Given the description of an element on the screen output the (x, y) to click on. 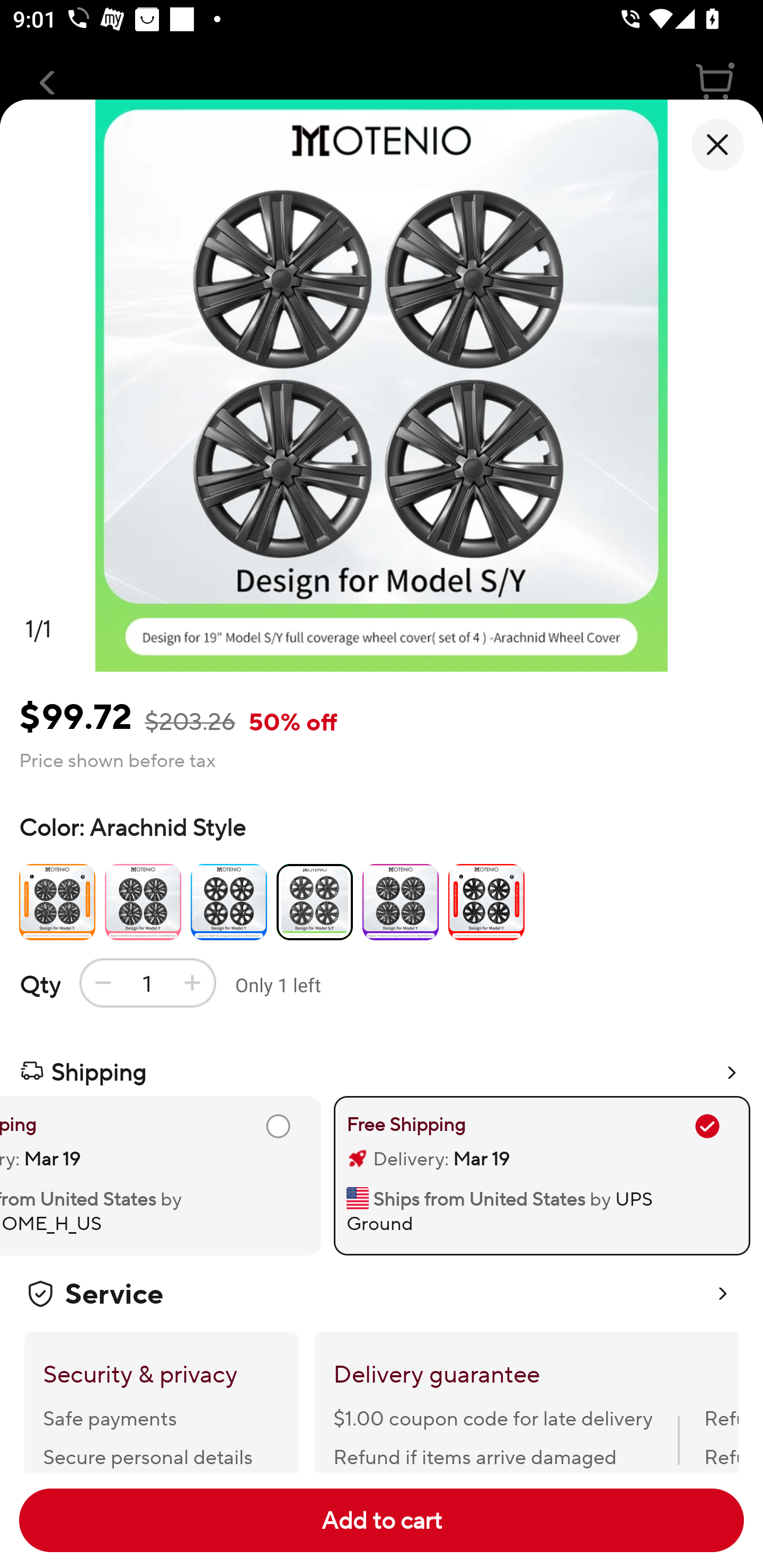
close  (717, 144)
Add to cart (381, 1520)
